Given the description of an element on the screen output the (x, y) to click on. 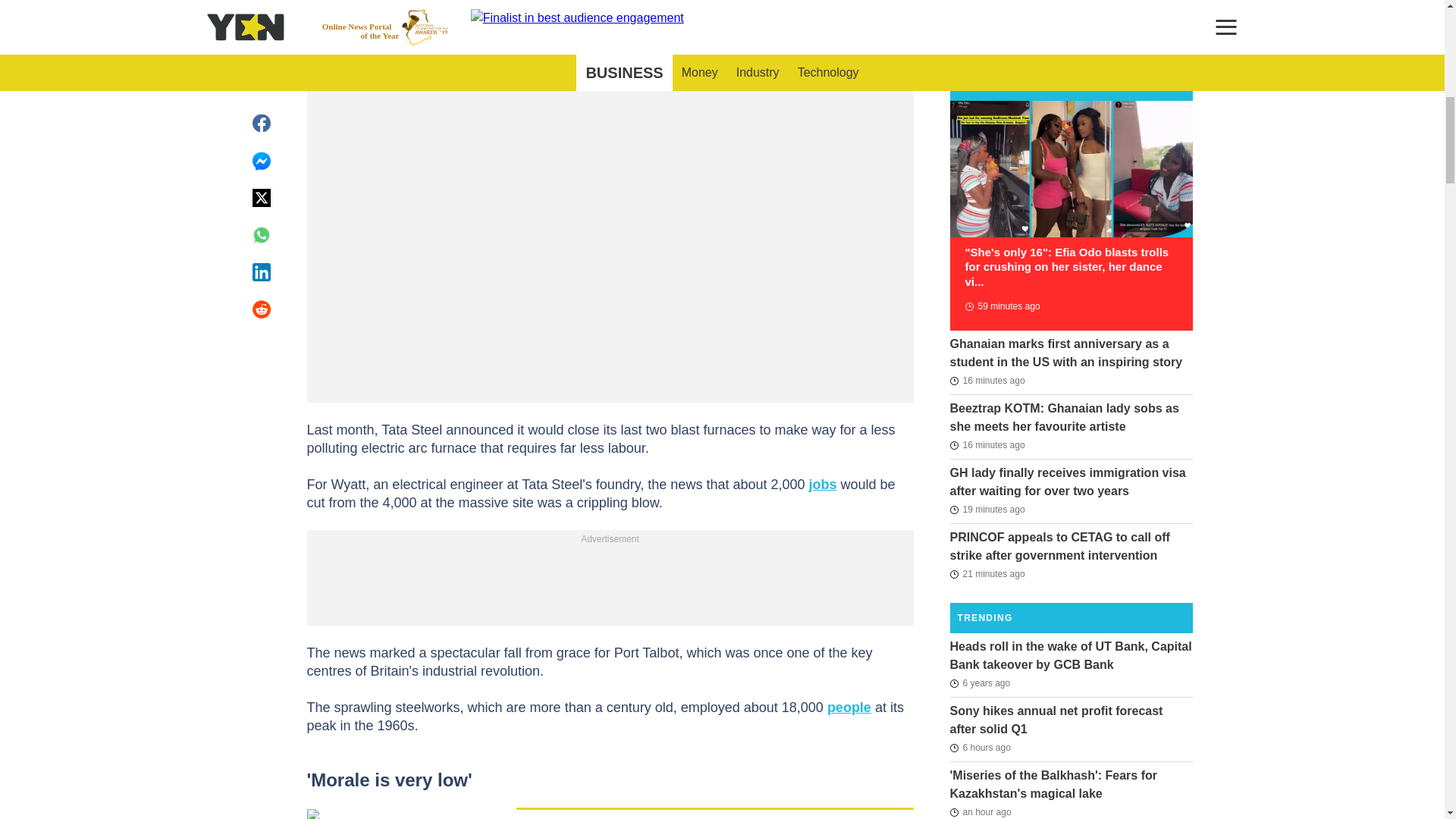
2024-08-07T13:08:32Z (987, 509)
2017-08-16T14:56:16Z (979, 683)
X Space (660, 2)
2024-08-07T13:11:26Z (987, 444)
2024-08-07T12:28:18Z (1001, 306)
2024-08-07T13:11:39Z (987, 380)
2024-08-07T13:06:15Z (987, 574)
